Given the description of an element on the screen output the (x, y) to click on. 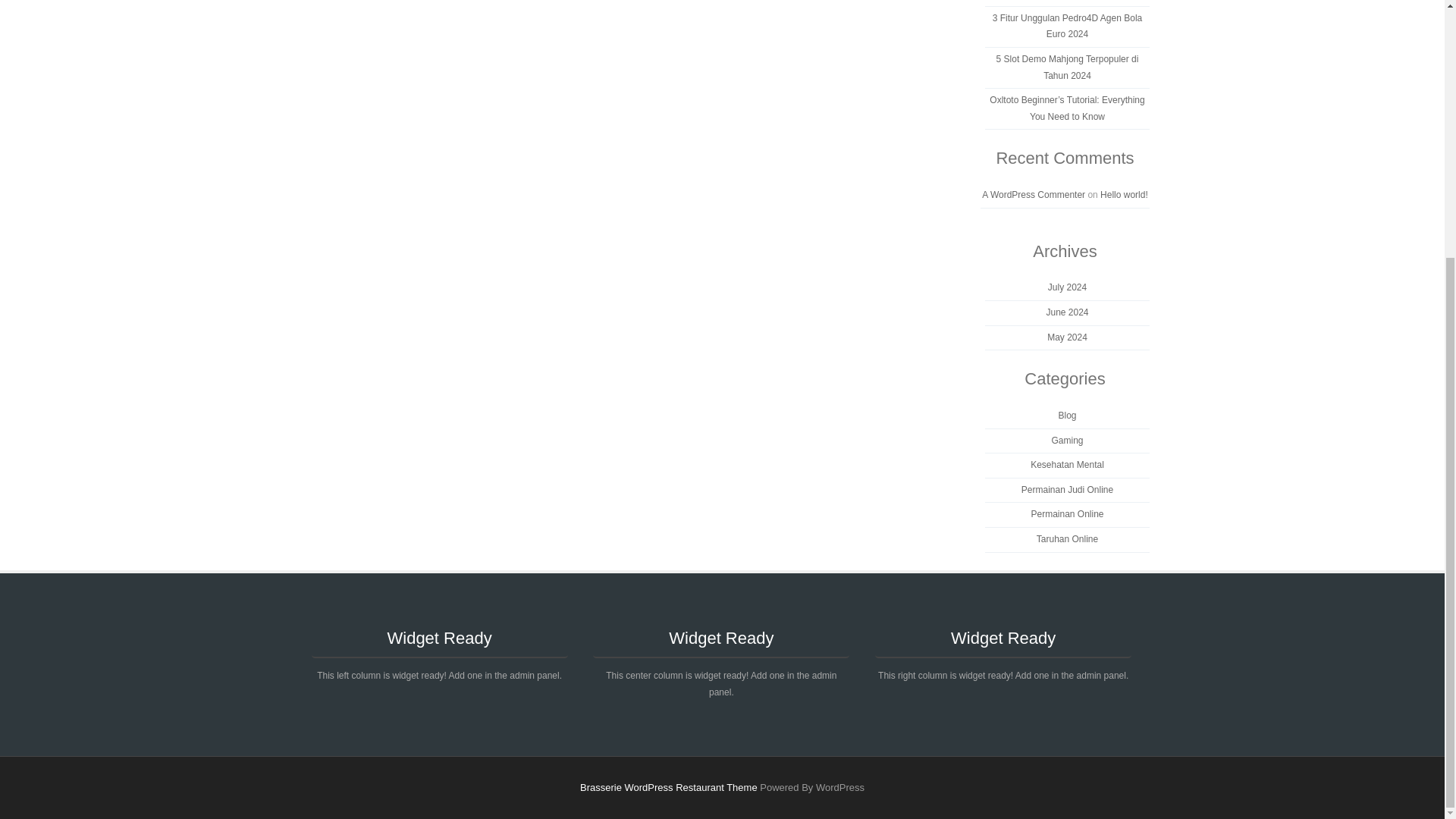
Hello world! (1124, 194)
5 Slot Demo Mahjong Terpopuler di Tahun 2024 (1066, 67)
3 Fitur Unggulan Pedro4D Agen Bola Euro 2024 (1066, 26)
A WordPress Commenter (1032, 194)
